Given the description of an element on the screen output the (x, y) to click on. 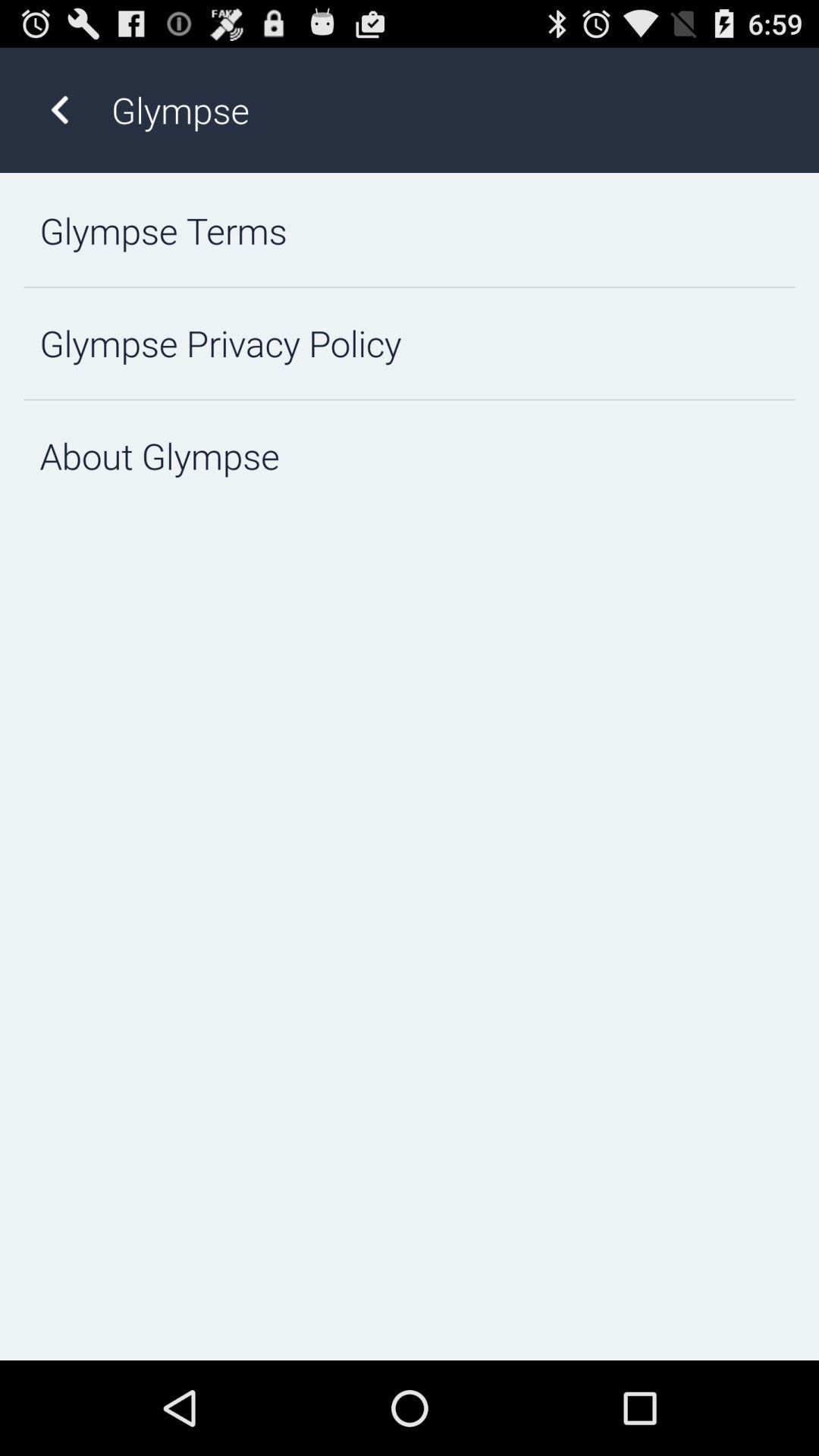
scroll to the about glympse item (409, 455)
